Given the description of an element on the screen output the (x, y) to click on. 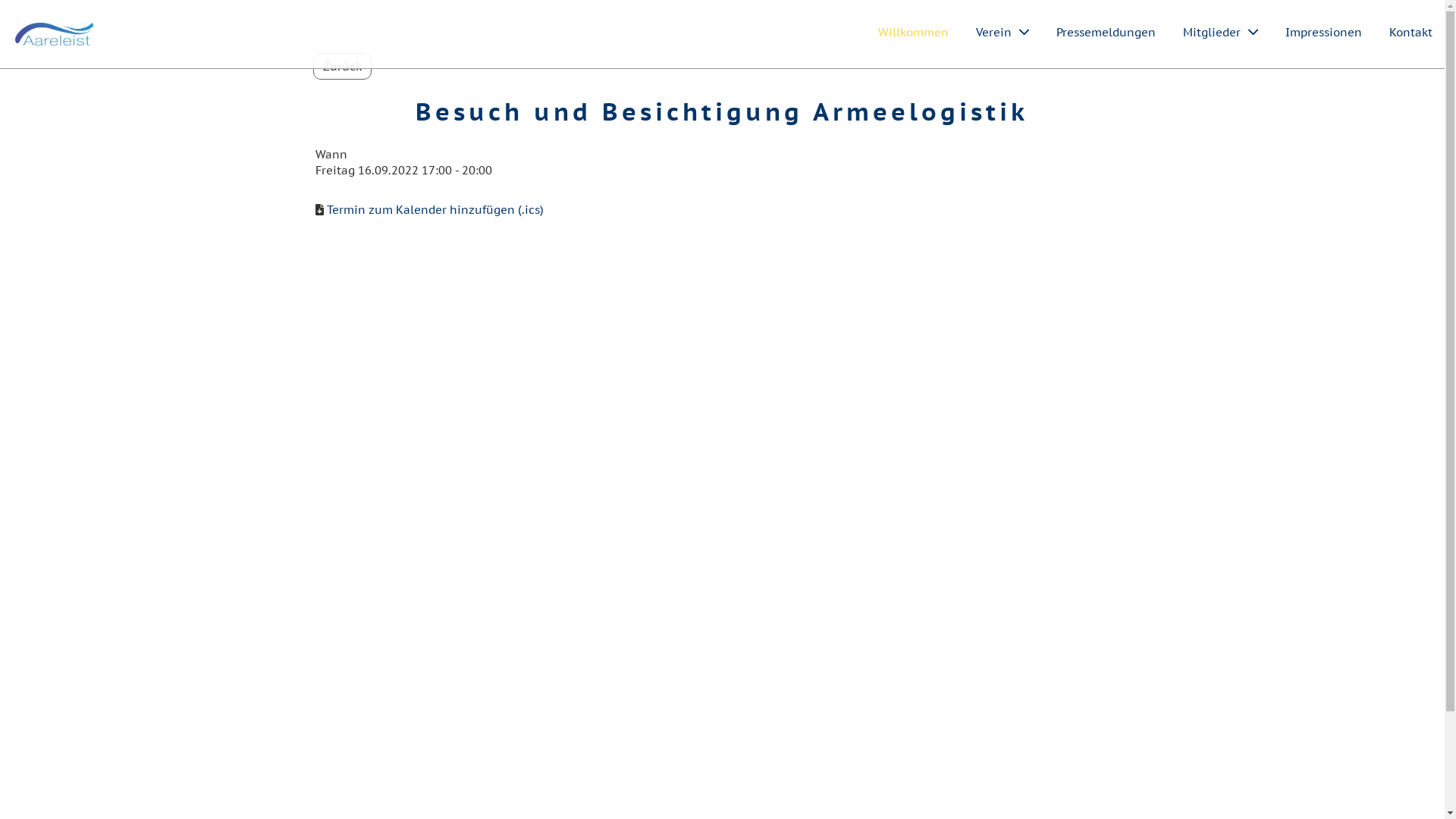
Pressemeldungen Element type: text (1105, 31)
Willkommen Element type: text (913, 31)
Impressionen Element type: text (1323, 31)
Kontakt Element type: text (1410, 31)
Verein Element type: text (1002, 31)
Mitglieder Element type: text (1220, 31)
